Given the description of an element on the screen output the (x, y) to click on. 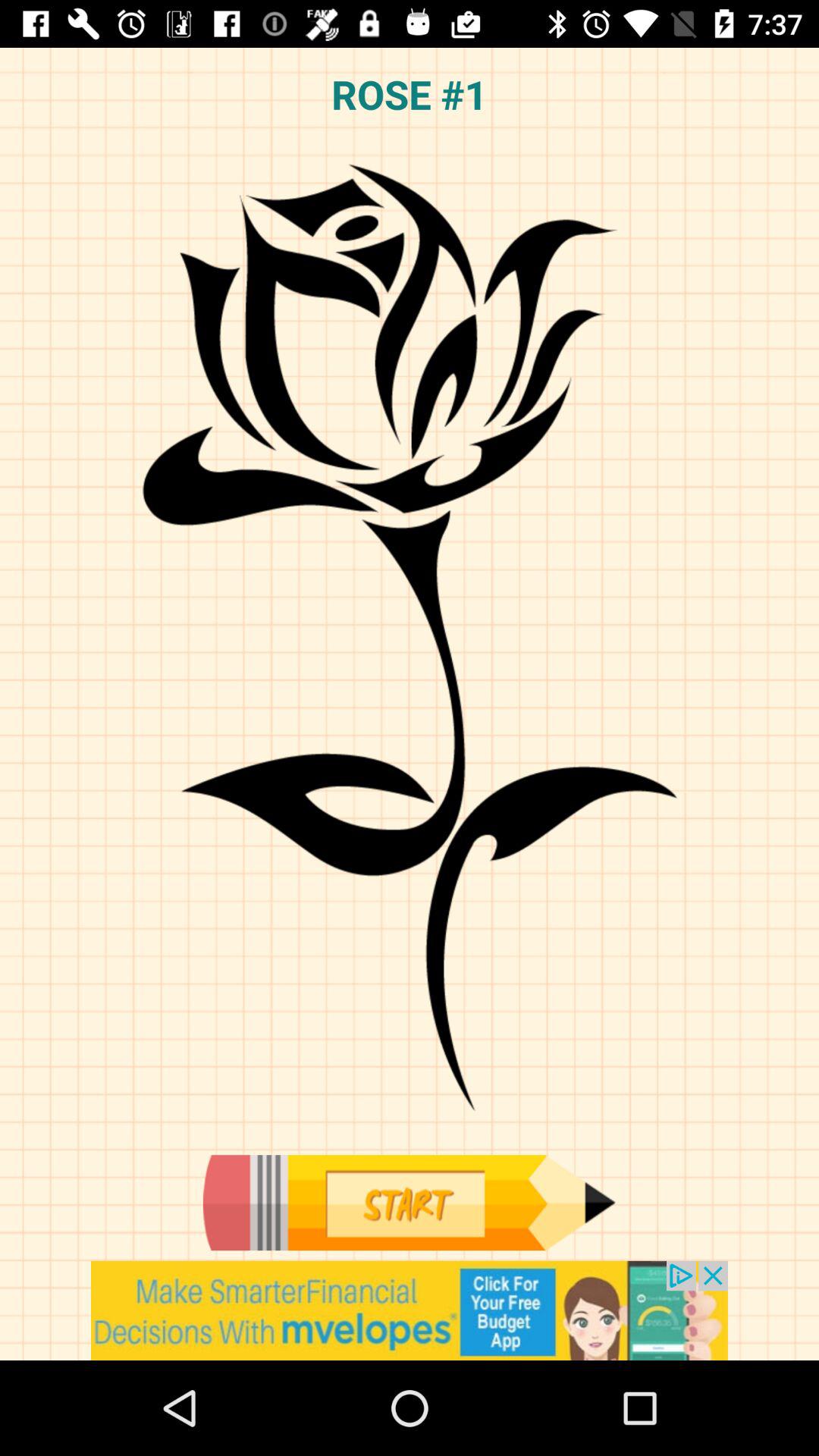
start drawing (409, 1202)
